Given the description of an element on the screen output the (x, y) to click on. 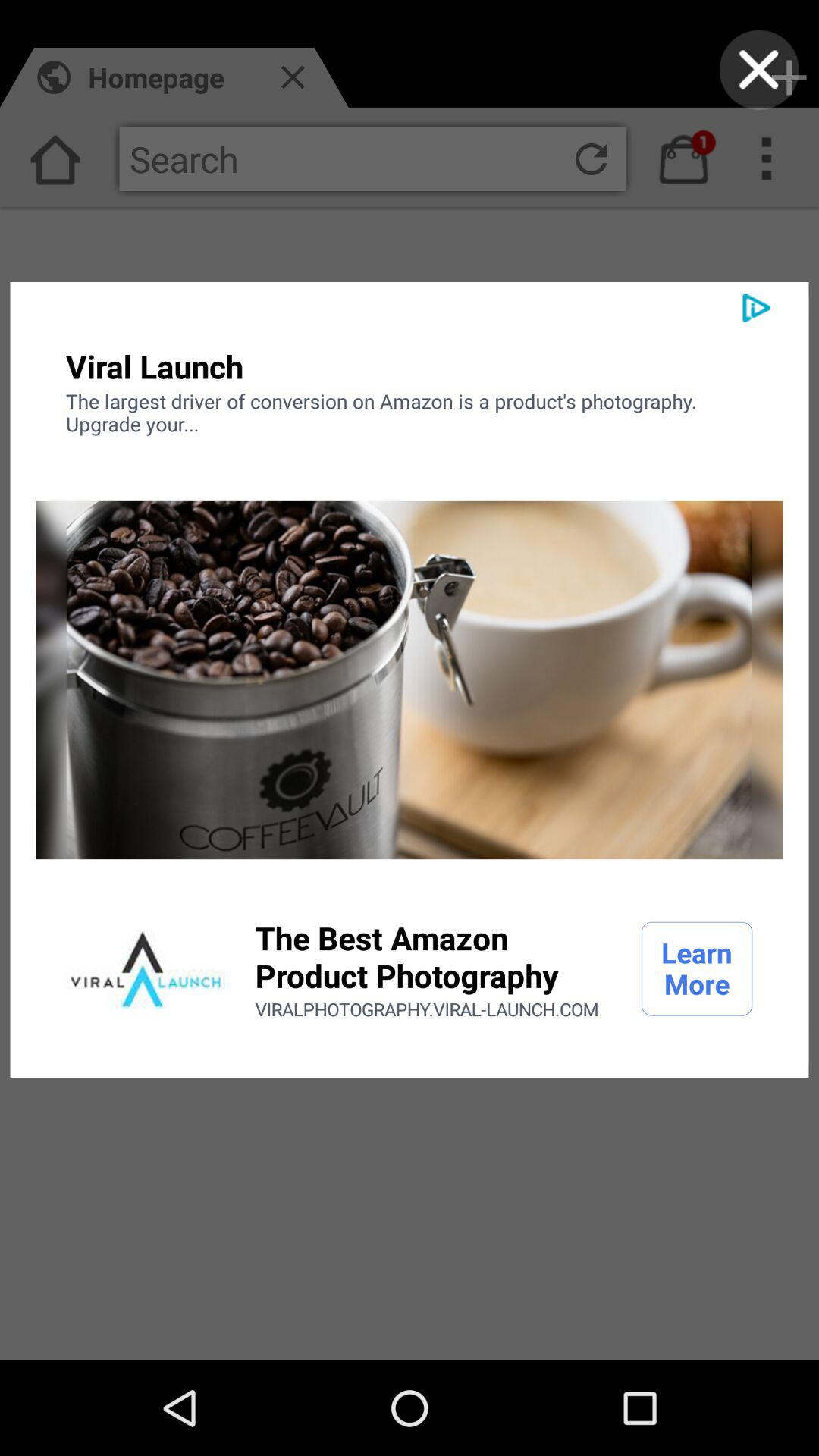
close advertisement (759, 69)
